Given the description of an element on the screen output the (x, y) to click on. 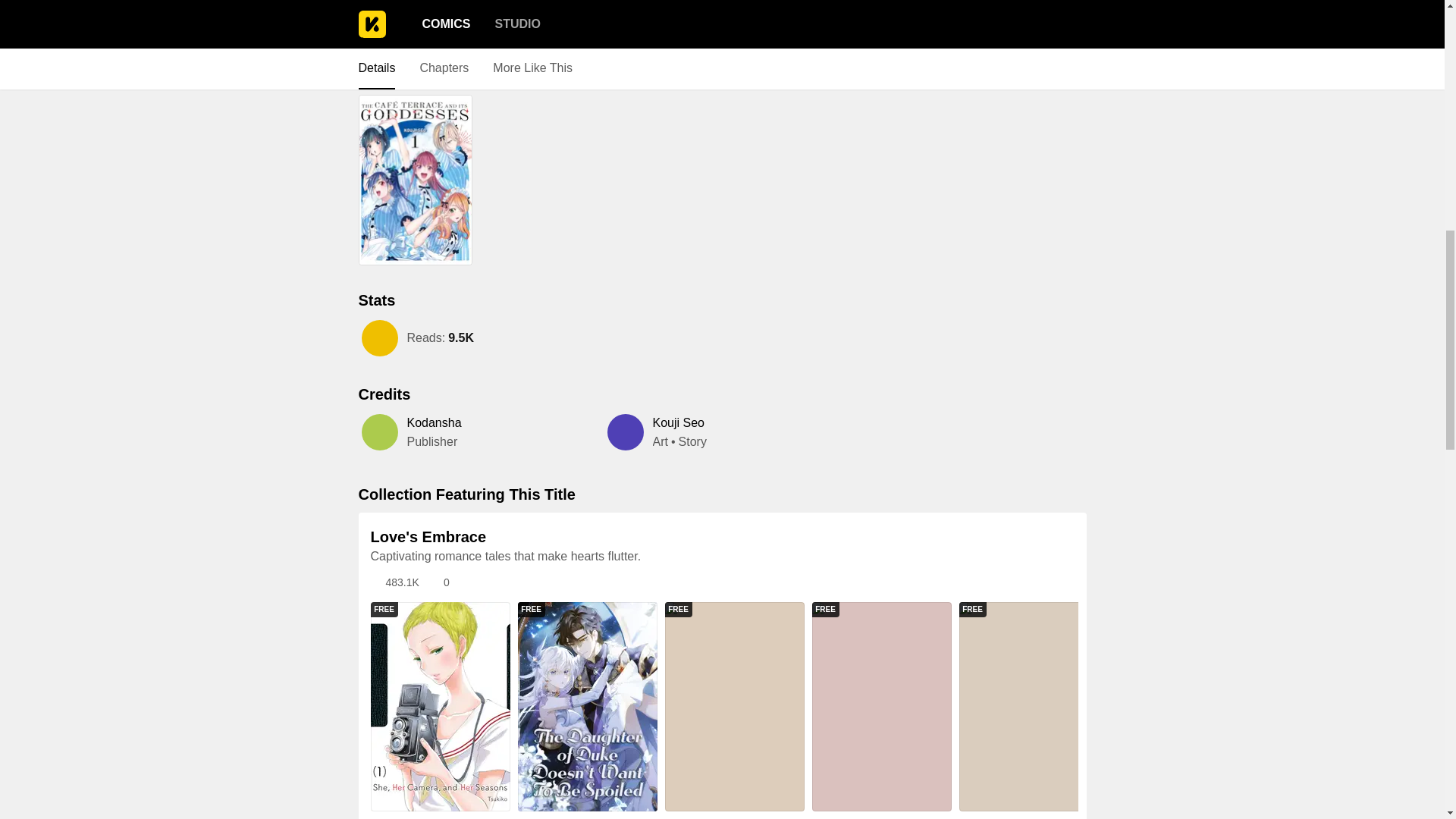
Volume 5 (535, 20)
Volume 5 (535, 20)
Kodansha (433, 423)
Kouji Seo (678, 423)
